Given the description of an element on the screen output the (x, y) to click on. 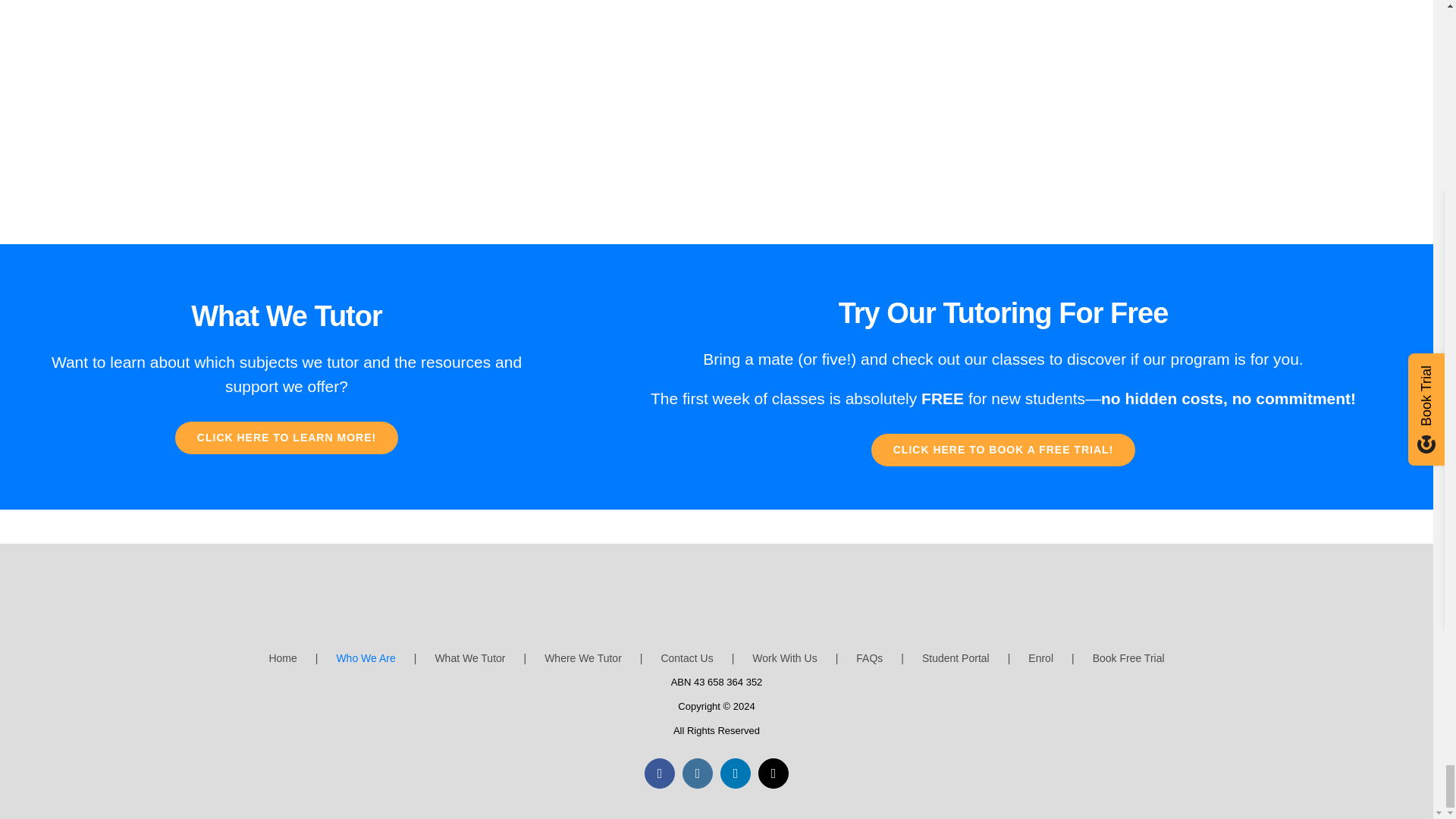
Email (773, 773)
Facebook (660, 773)
LinkedIn (735, 773)
Instagram (697, 773)
